Given the description of an element on the screen output the (x, y) to click on. 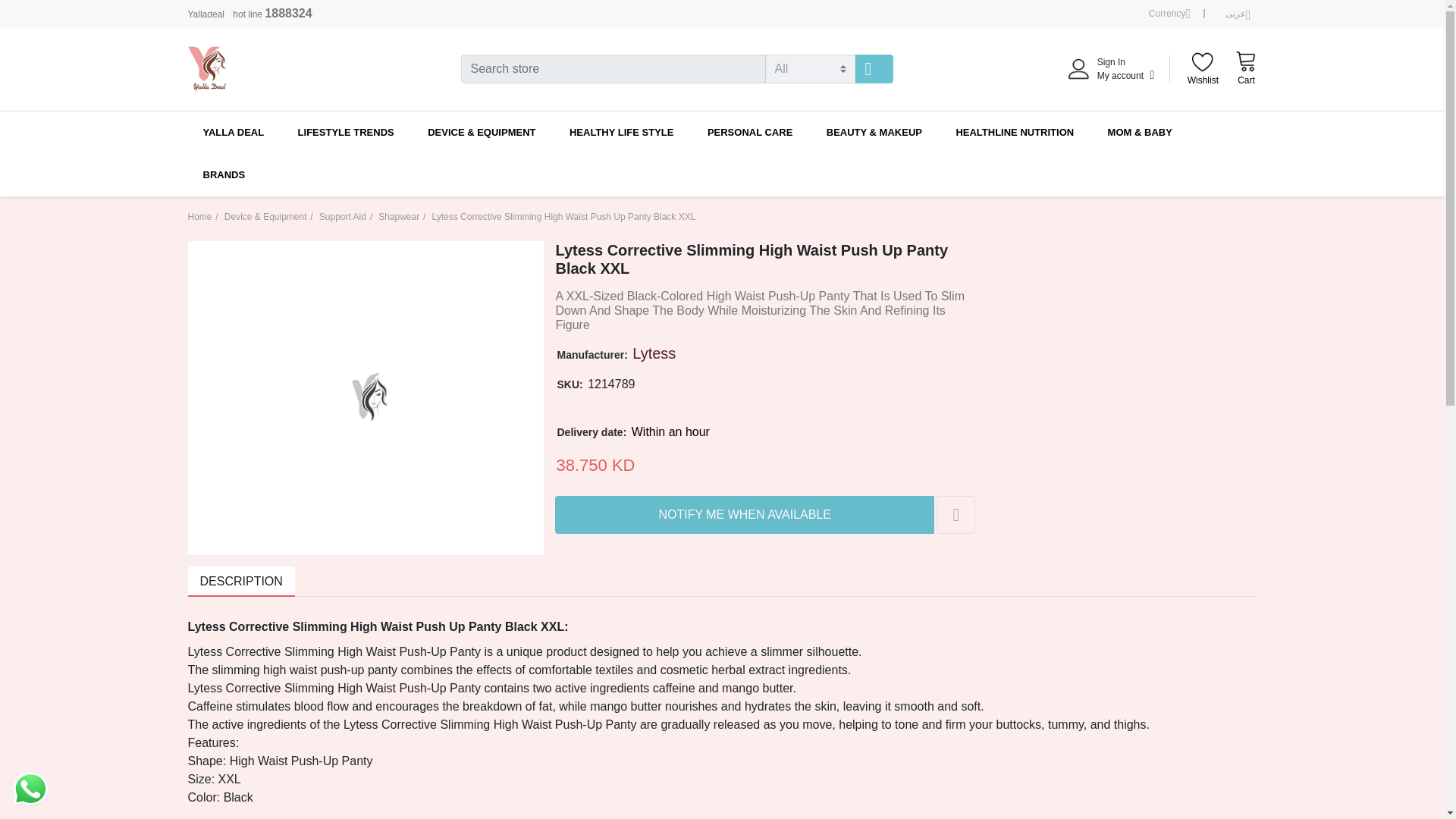
Add to wishlist (956, 514)
Wishlist (1203, 69)
Notify me when available (1169, 13)
Cart (744, 514)
Search store (1245, 68)
Logo (874, 68)
